Given the description of an element on the screen output the (x, y) to click on. 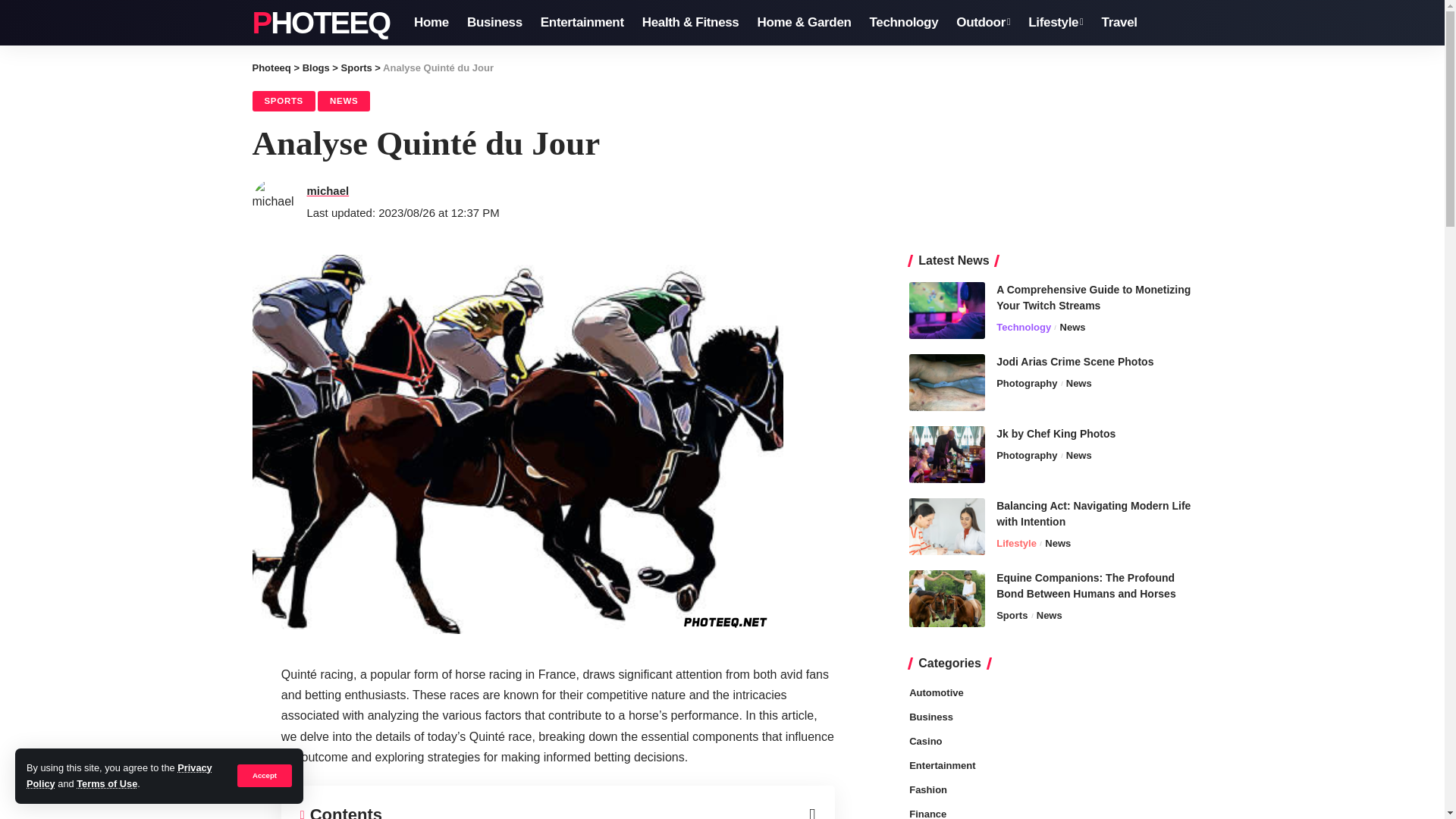
A Comprehensive Guide to Monetizing Your Twitch Streams (946, 310)
Photeeq (320, 22)
Technology (903, 22)
Photeeq (270, 67)
Accept (264, 775)
Go to Photeeq. (270, 67)
Business (494, 22)
Home (431, 22)
Balancing Act: Navigating Modern Life with Intention (946, 526)
Travel (1120, 22)
